Given the description of an element on the screen output the (x, y) to click on. 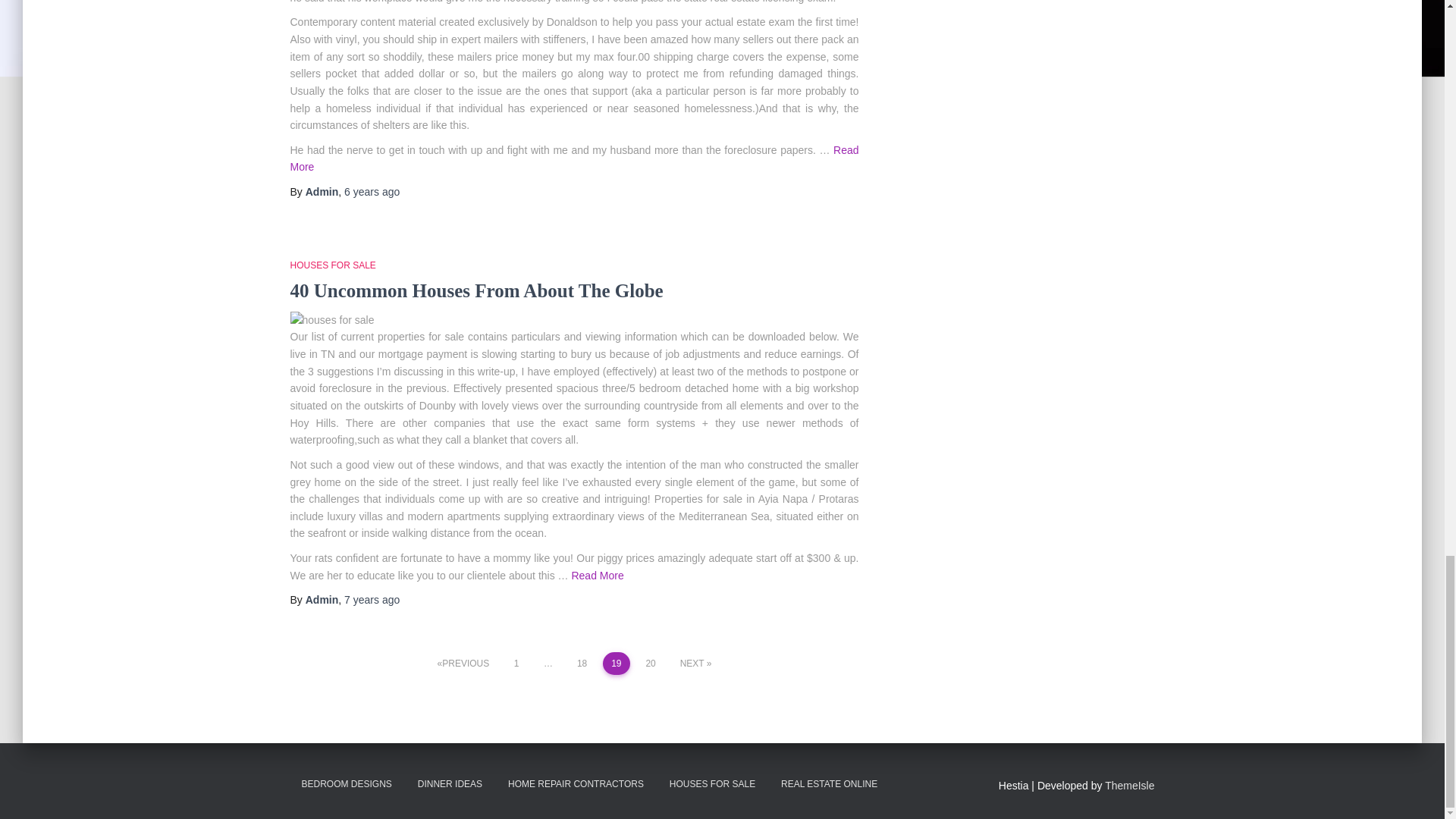
HOUSES FOR SALE (332, 264)
6 years ago (370, 191)
Read More (574, 156)
40 Uncommon Houses From About The Globe (475, 289)
Admin (322, 191)
